Given the description of an element on the screen output the (x, y) to click on. 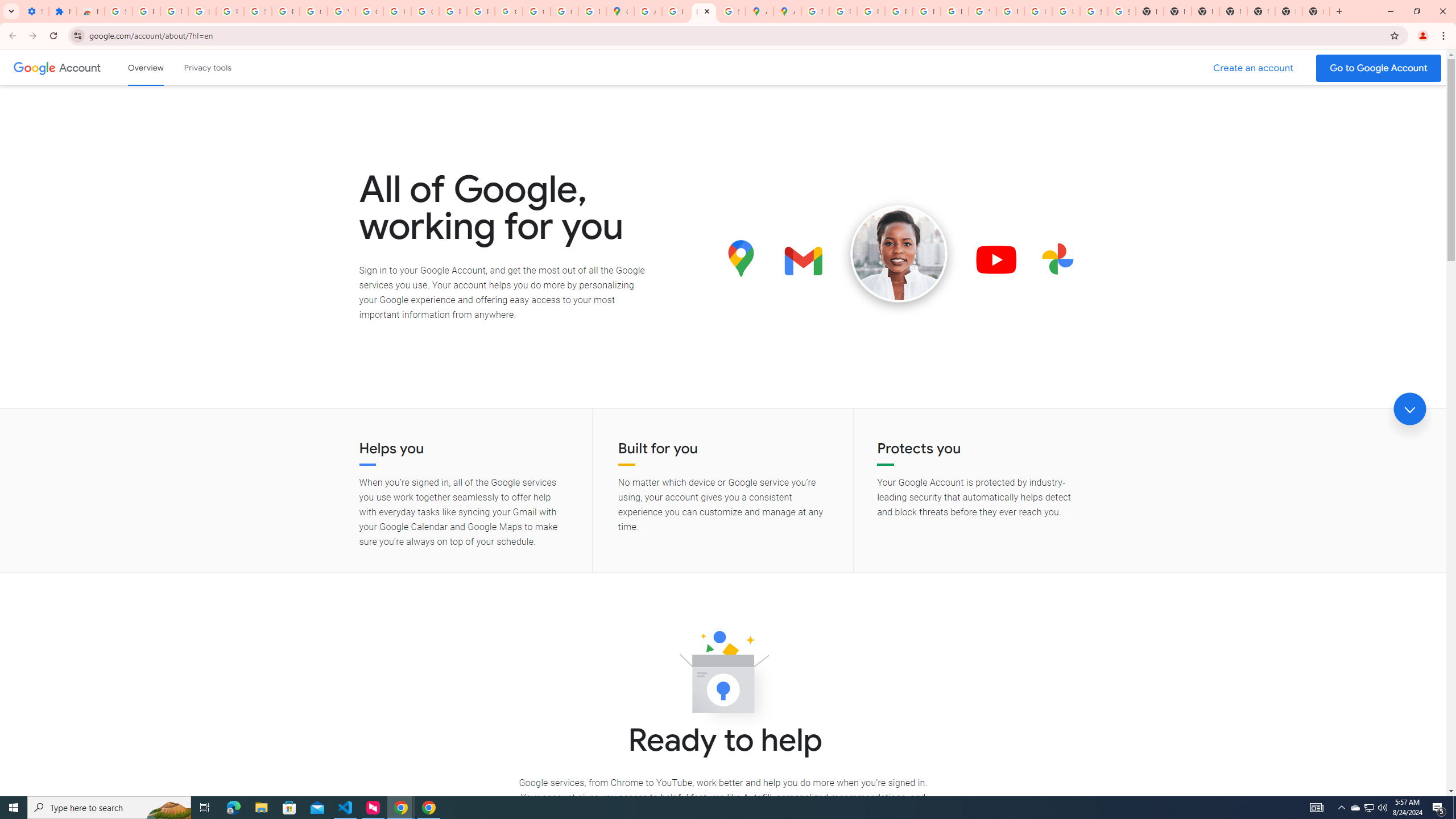
Google Maps (620, 11)
Ready to help (722, 675)
Sign in - Google Accounts (257, 11)
